Given the description of an element on the screen output the (x, y) to click on. 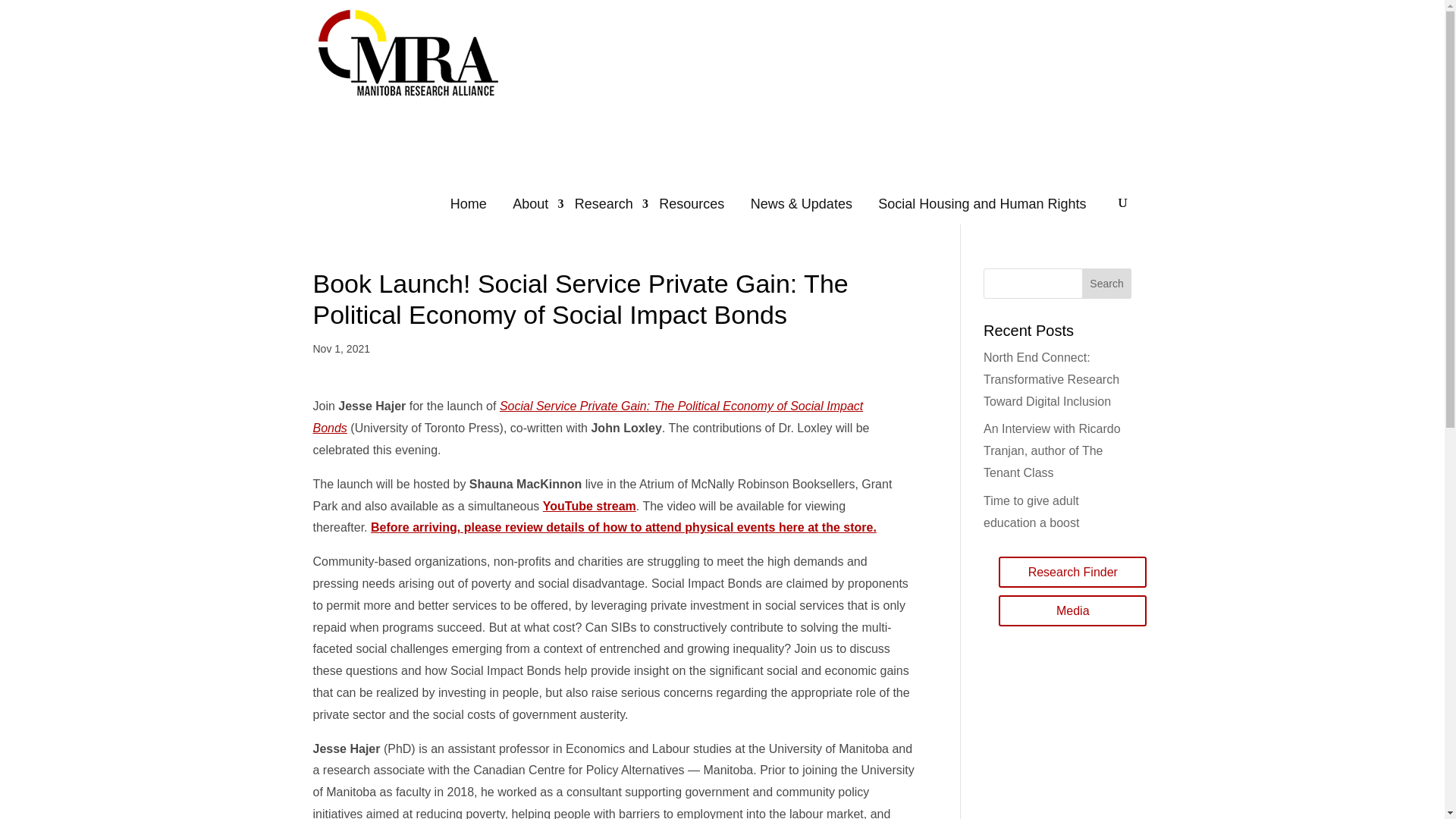
Research Finder (1072, 572)
Research (611, 203)
Home (475, 203)
Search (1106, 283)
About (537, 203)
YouTube stream (589, 505)
Media (1072, 610)
Social Housing and Human Rights (988, 203)
Resources (699, 203)
Time to give adult education a boost (1031, 511)
Search (1106, 283)
